Given the description of an element on the screen output the (x, y) to click on. 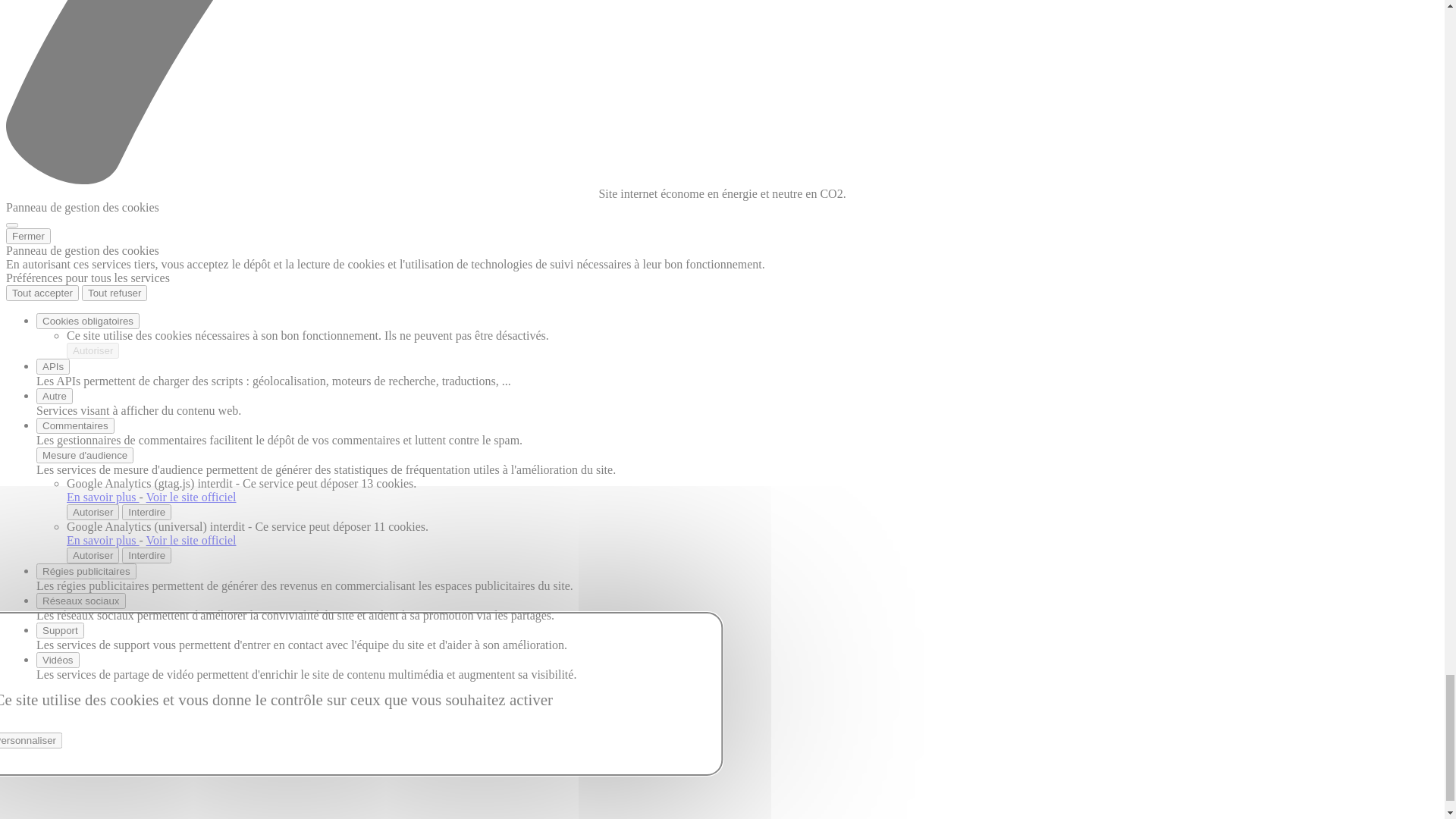
Nos certifications Element type: text (109, 420)
Extension Element type: text (60, 363)
Construction Element type: text (67, 336)
Contactez-nous Element type: text (43, 66)
Voir les sous rubriques Element type: text (100, 393)
L'entreprise Element type: text (65, 391)
Qui sommes-nous ? Element type: text (114, 407)
Accueil Element type: text (55, 322)
Accueil Element type: text (24, 473)
Contact Element type: text (55, 448)
Partenaires Element type: text (93, 434)
